Given the description of an element on the screen output the (x, y) to click on. 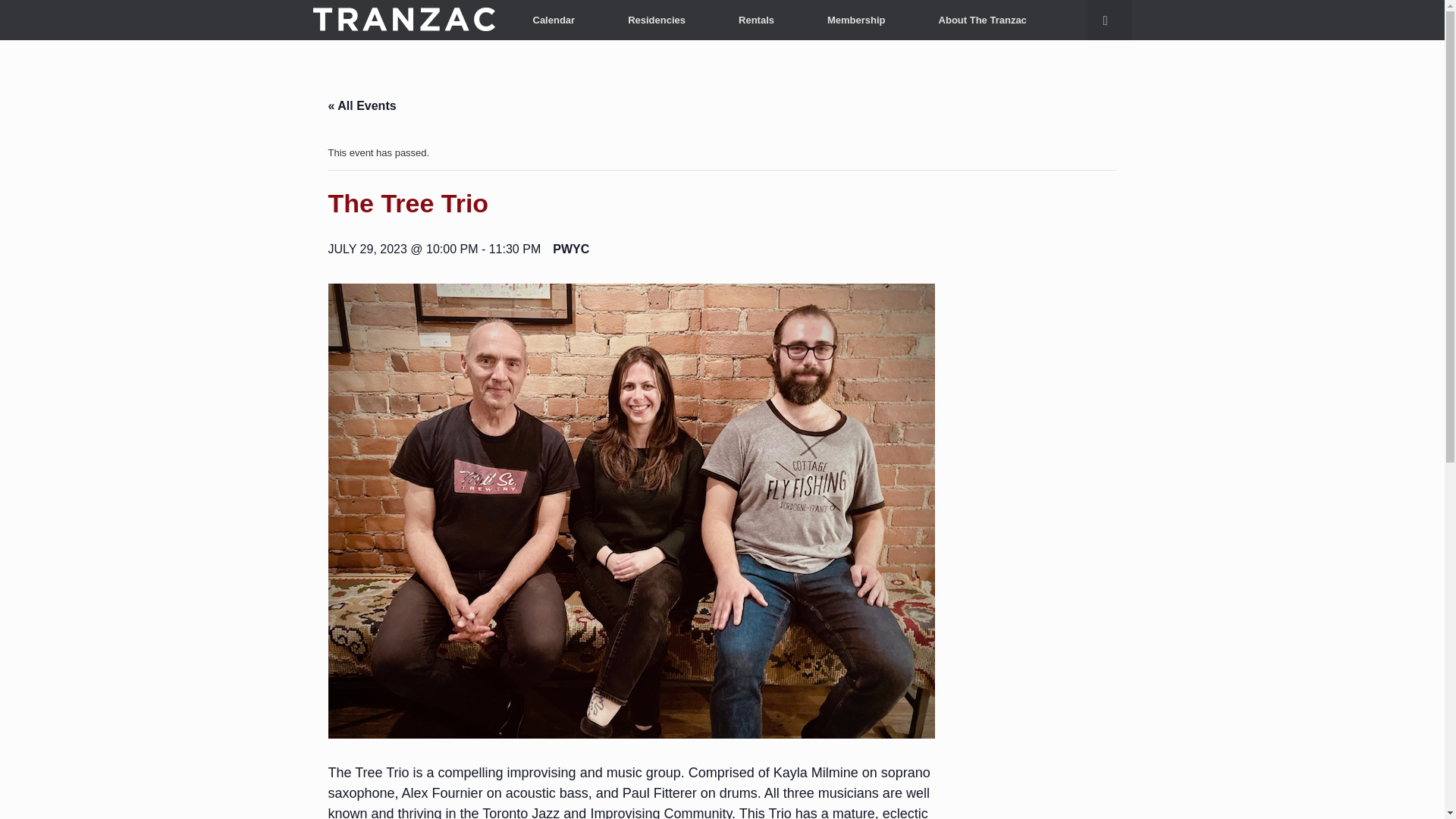
Rentals (755, 20)
Tranzac Club (404, 20)
Membership (856, 20)
Residencies (656, 20)
About The Tranzac (982, 20)
Calendar (554, 20)
